Given the description of an element on the screen output the (x, y) to click on. 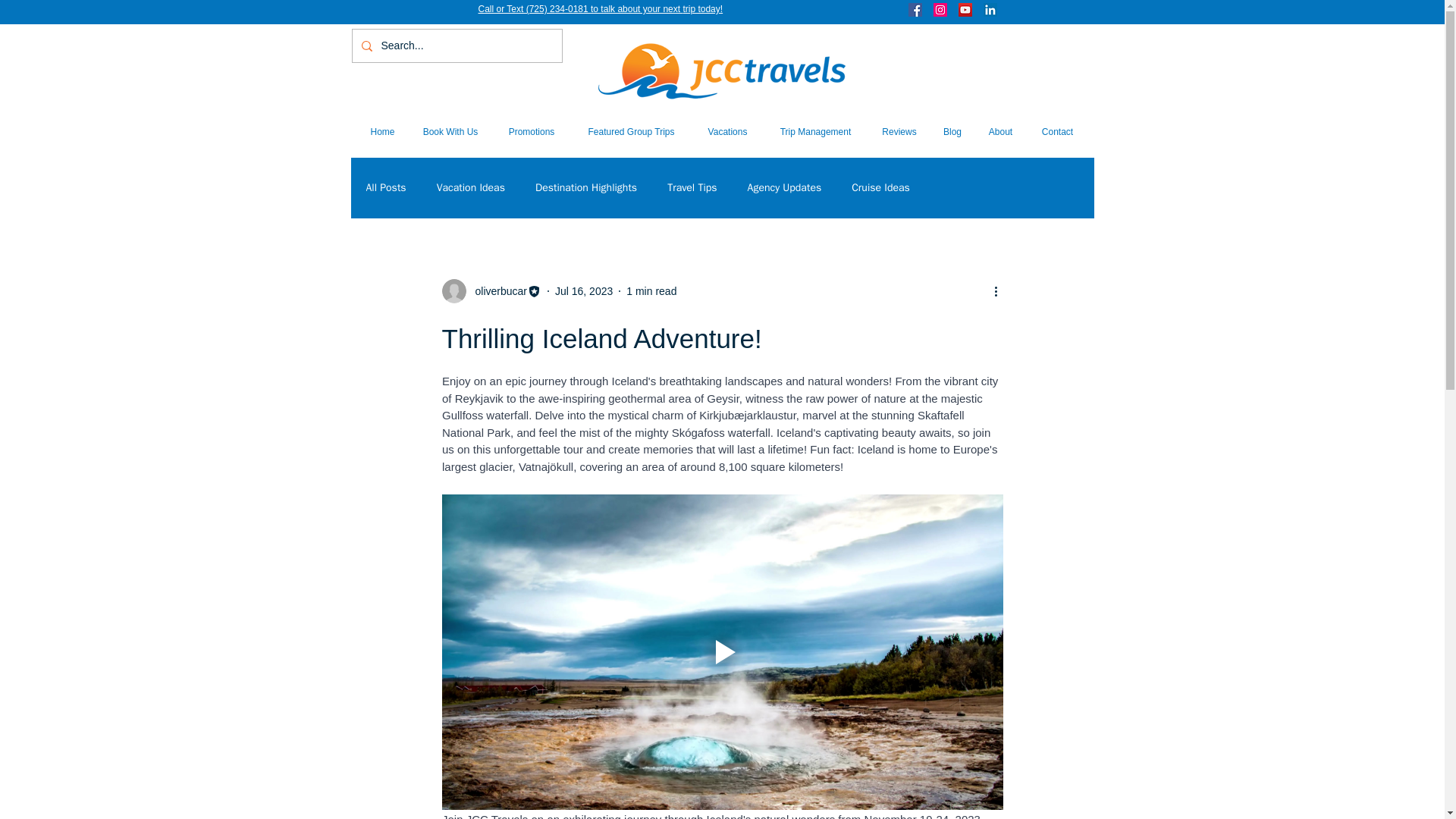
Travel Tips (691, 187)
oliverbucar (495, 291)
1 min read (651, 291)
Jul 16, 2023 (583, 291)
About (1000, 132)
Promotions (531, 132)
Vacation Ideas (470, 187)
Featured Group Trips (631, 132)
Home (381, 132)
Agency Updates (785, 187)
